Given the description of an element on the screen output the (x, y) to click on. 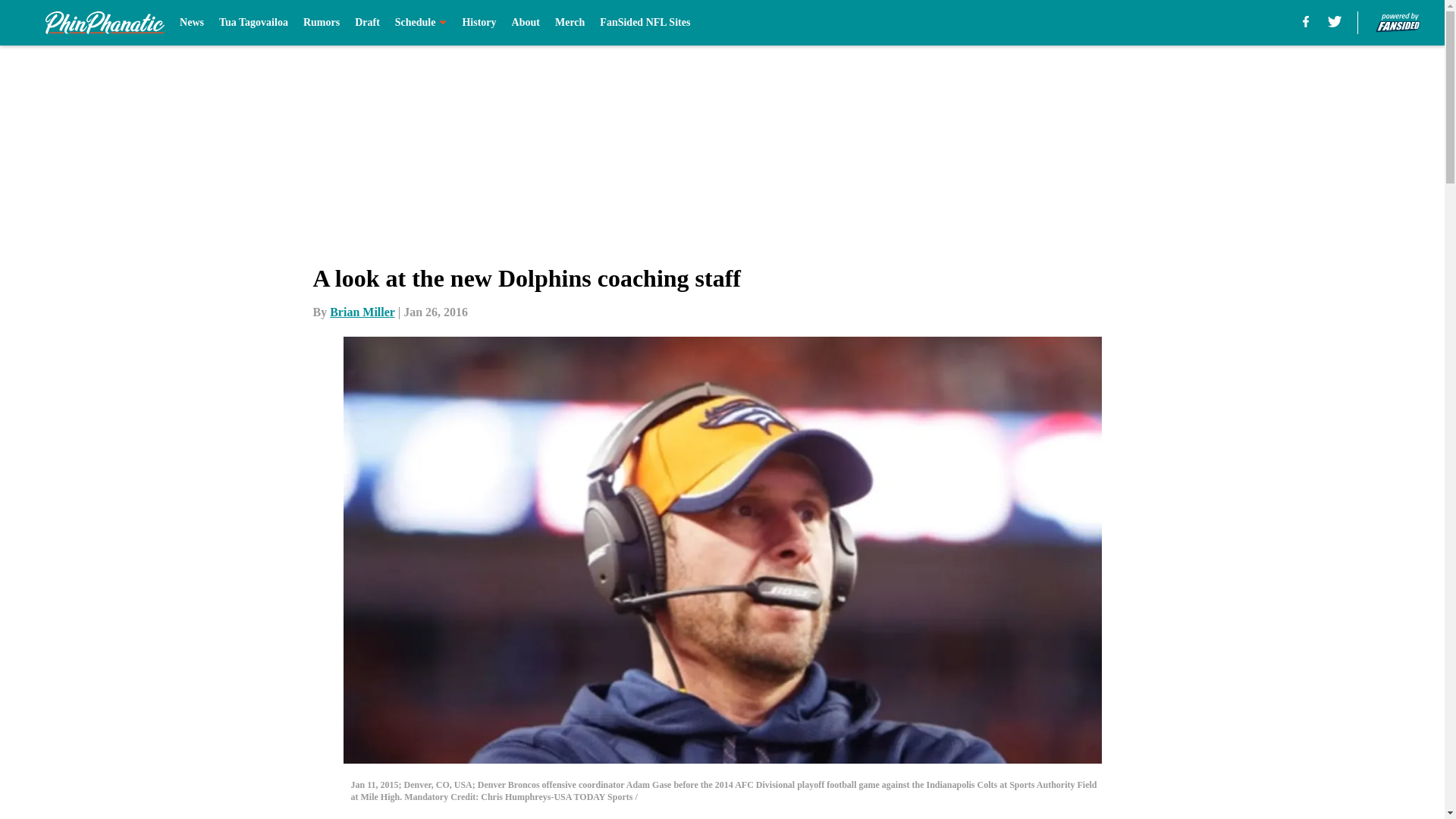
History (478, 22)
Rumors (320, 22)
Tua Tagovailoa (253, 22)
Brian Miller (362, 311)
About (526, 22)
Merch (569, 22)
News (191, 22)
Draft (367, 22)
FanSided NFL Sites (644, 22)
